Given the description of an element on the screen output the (x, y) to click on. 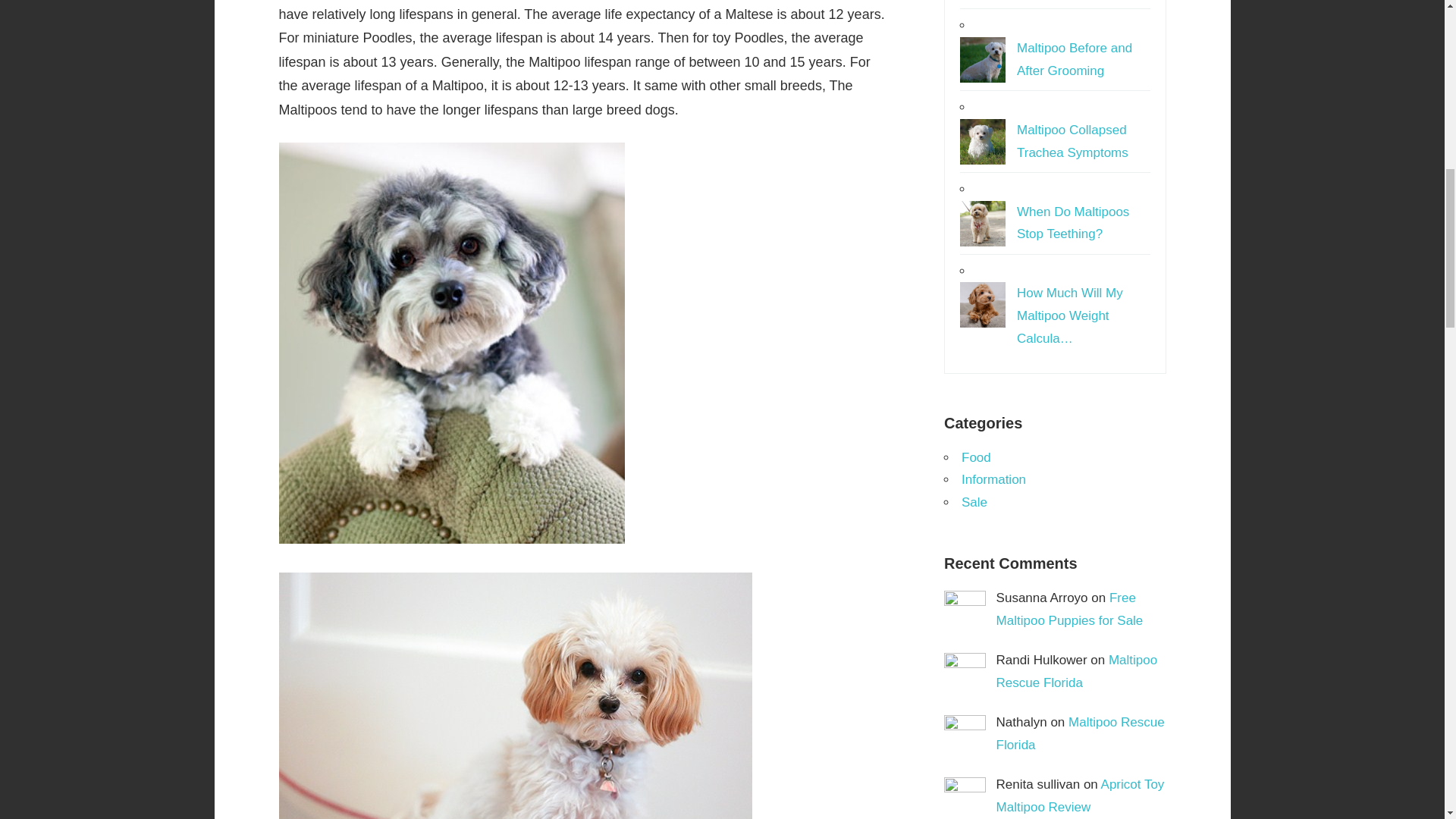
Maltipoo Lifespan (515, 695)
